Given the description of an element on the screen output the (x, y) to click on. 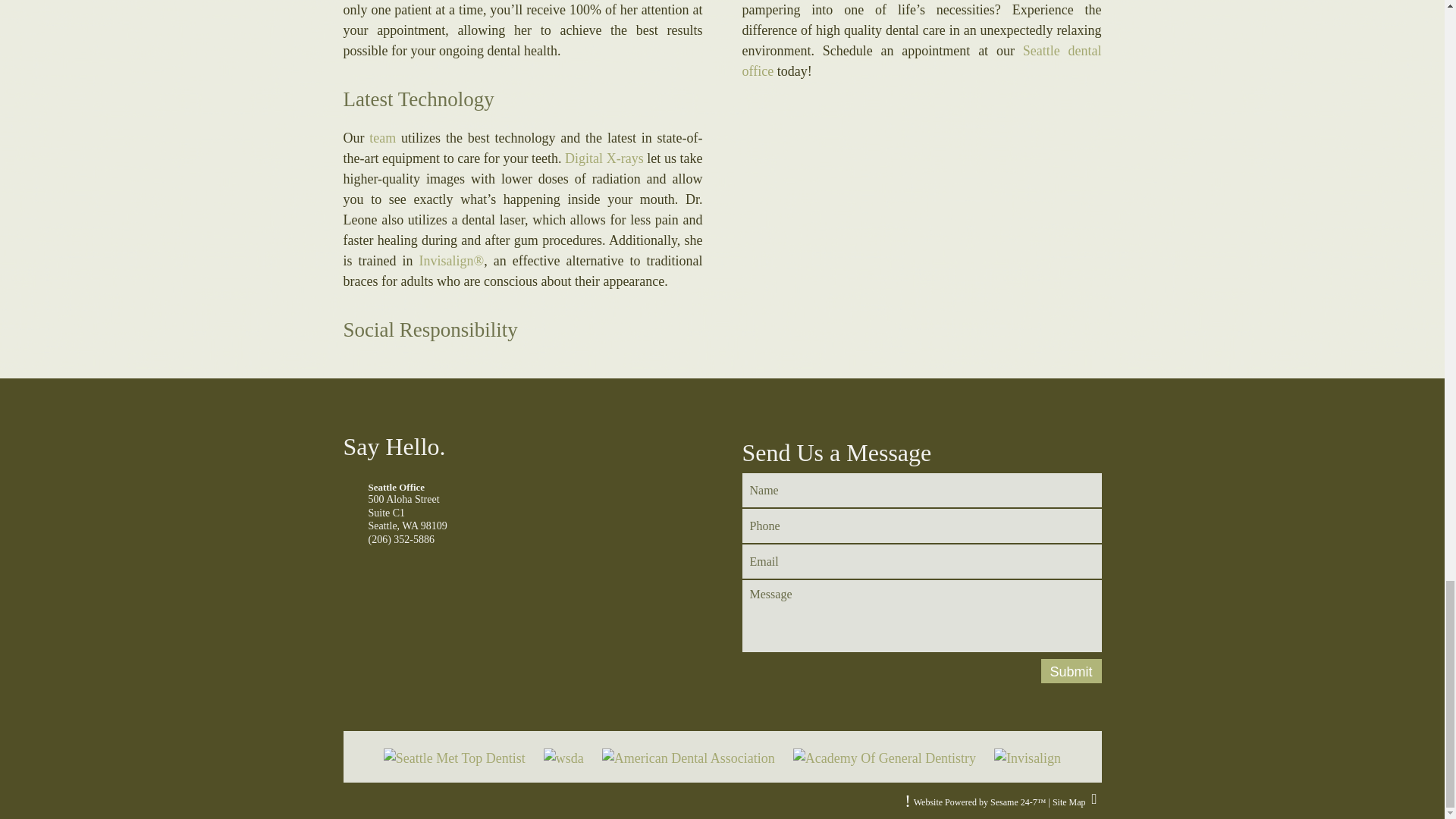
Submit (1070, 671)
